Given the description of an element on the screen output the (x, y) to click on. 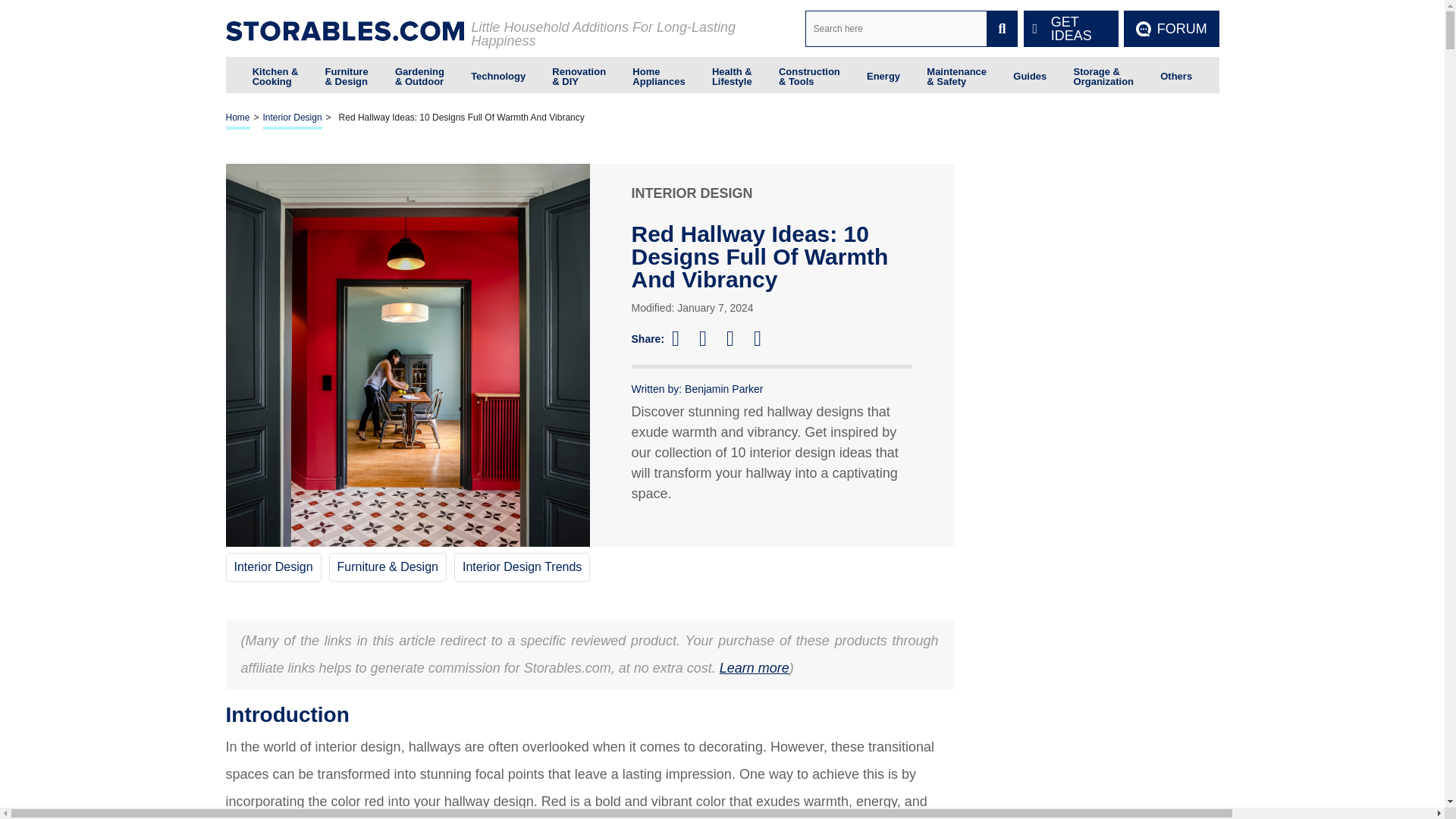
Share on Facebook (682, 338)
Share on WhatsApp (764, 338)
FORUM (1171, 28)
GET IDEAS (1070, 28)
Share on Twitter (709, 338)
Technology (497, 74)
Share on Pinterest (737, 338)
